Given the description of an element on the screen output the (x, y) to click on. 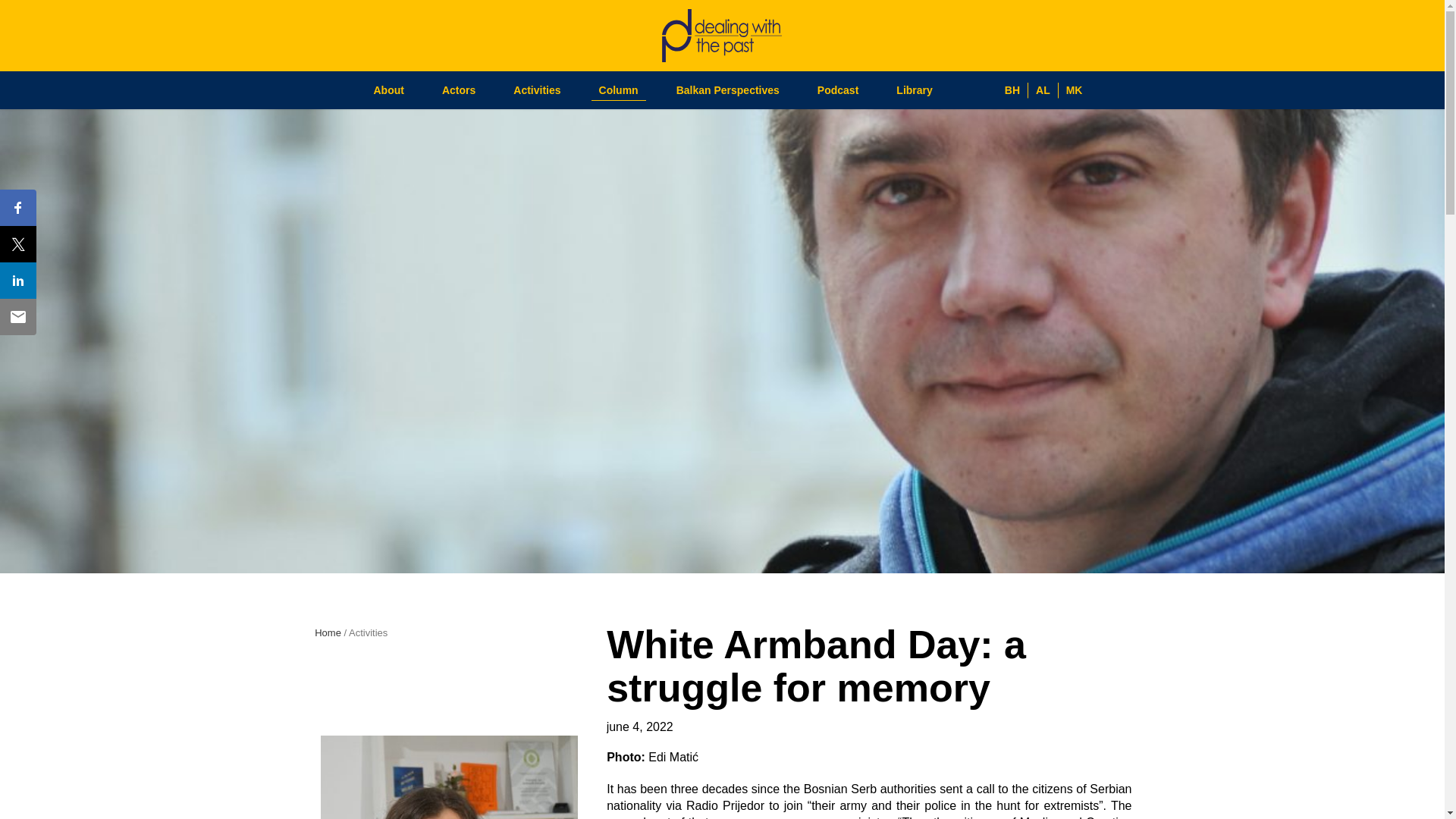
Library (913, 89)
About (387, 76)
DWP-BALKAN (722, 33)
june 4, 2022 (639, 726)
Activities (536, 80)
DWP-BALKAN (327, 632)
Podcast (837, 89)
Actors (459, 77)
Home (327, 632)
Column (618, 88)
